Given the description of an element on the screen output the (x, y) to click on. 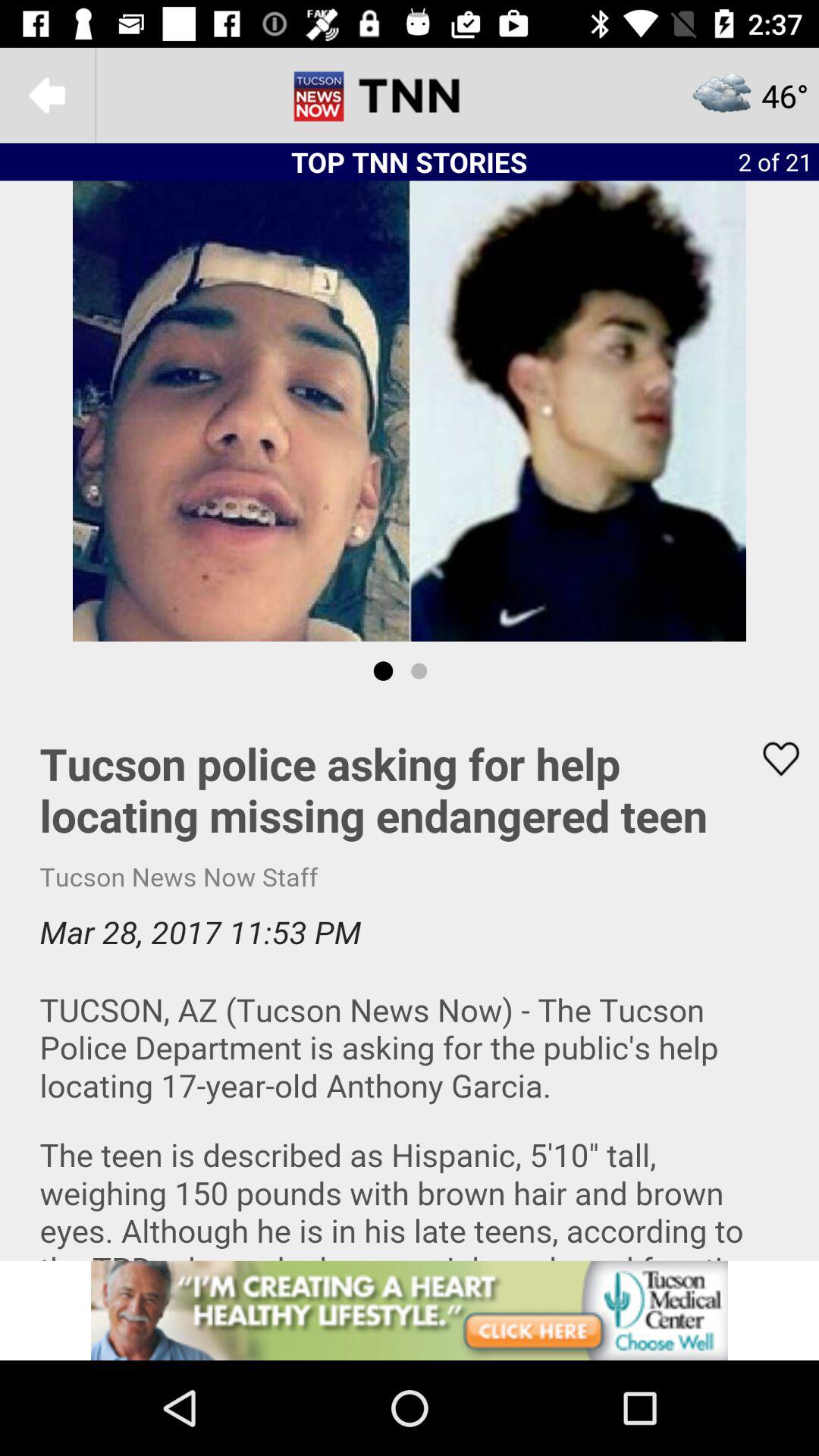
add to favorite (771, 758)
